Given the description of an element on the screen output the (x, y) to click on. 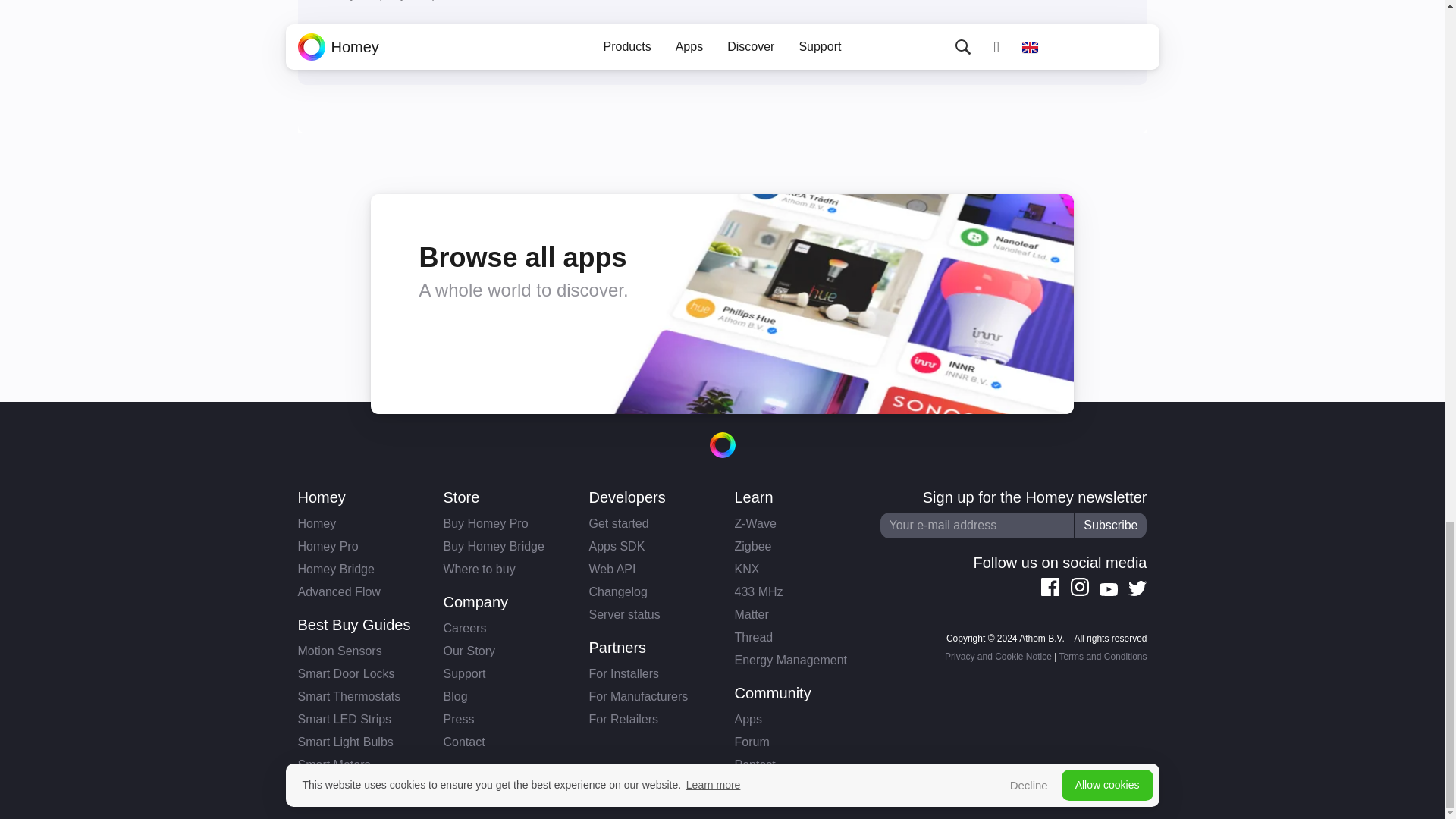
Subscribe (1110, 525)
